Given the description of an element on the screen output the (x, y) to click on. 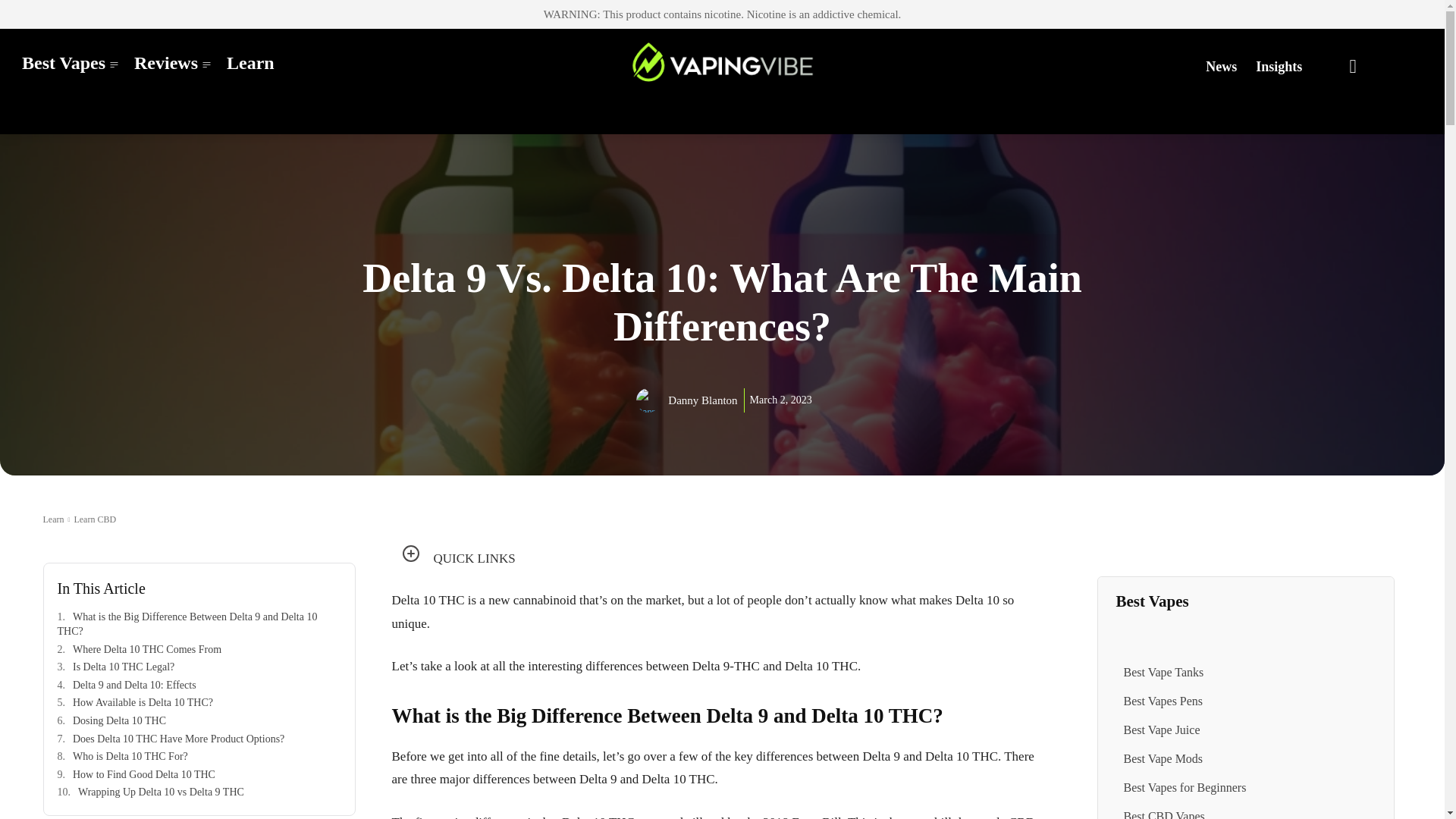
Best Vapes (69, 63)
View all posts in Learn CBD (95, 519)
Learn (250, 63)
Reviews (173, 63)
View all posts in Learn (53, 519)
Danny Blanton (650, 400)
News (1221, 66)
